Given the description of an element on the screen output the (x, y) to click on. 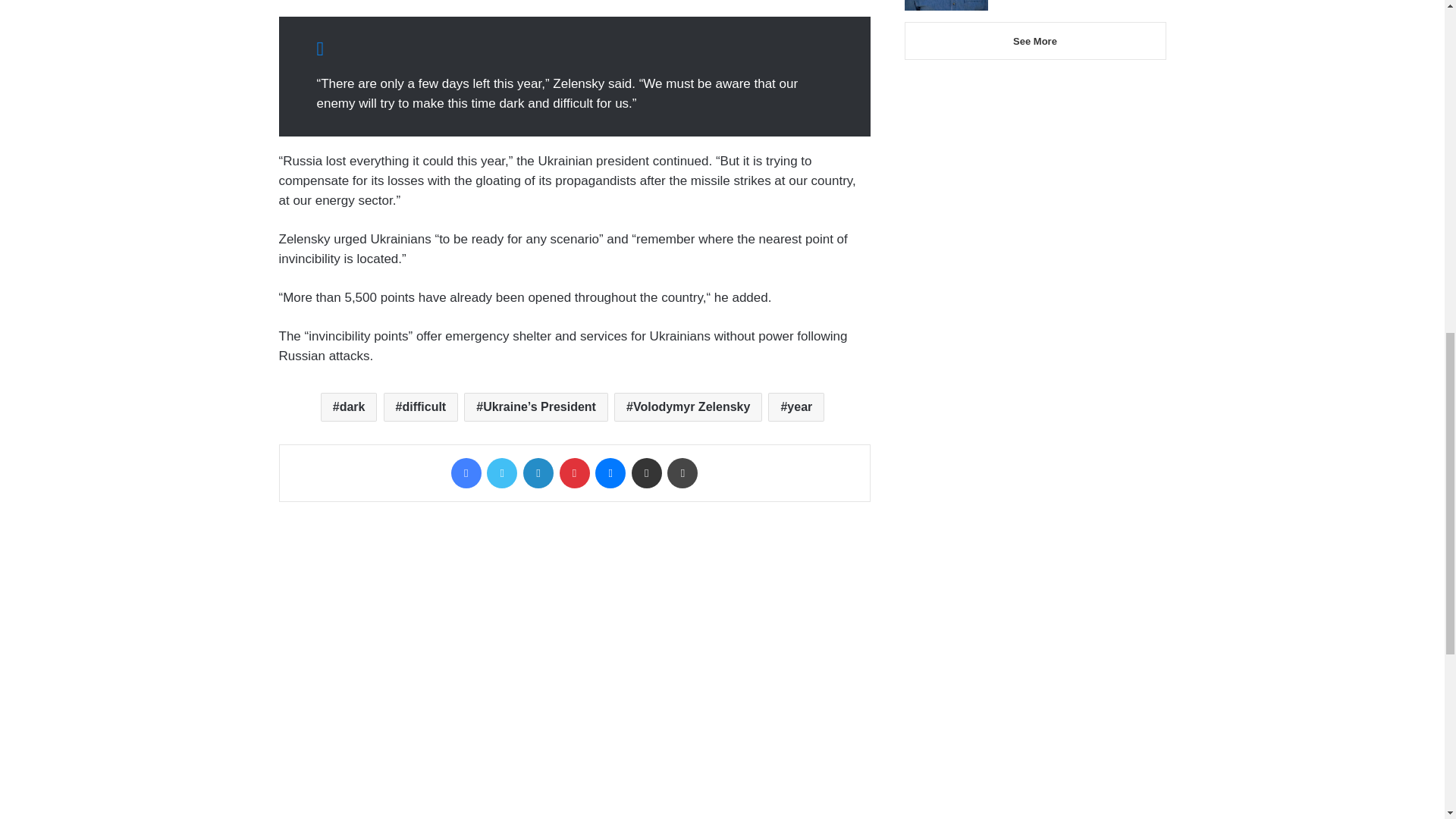
dark (348, 407)
Twitter (501, 472)
year (796, 407)
Facebook (466, 472)
Volodymyr Zelensky (687, 407)
Pinterest (574, 472)
Share via Email (646, 472)
LinkedIn (537, 472)
LinkedIn (537, 472)
Messenger (610, 472)
Share via Email (646, 472)
Pinterest (574, 472)
Facebook (466, 472)
Messenger (610, 472)
difficult (421, 407)
